Given the description of an element on the screen output the (x, y) to click on. 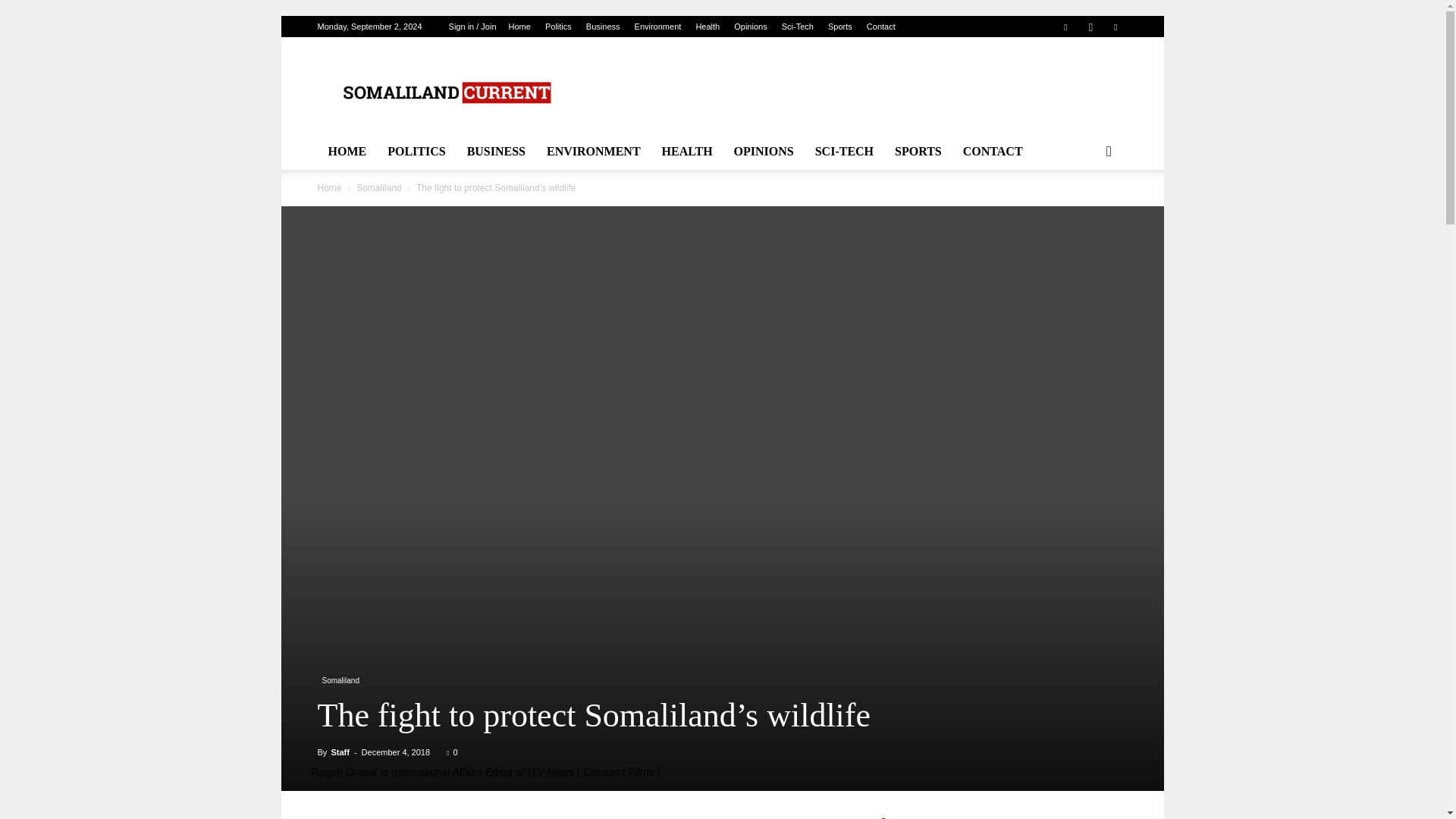
View all posts in Somaliland (378, 187)
Twitter (1114, 25)
Instagram (1090, 25)
somalilandcurrent.com logo (445, 92)
Politics (558, 26)
Facebook (1065, 25)
Home (519, 26)
